Given the description of an element on the screen output the (x, y) to click on. 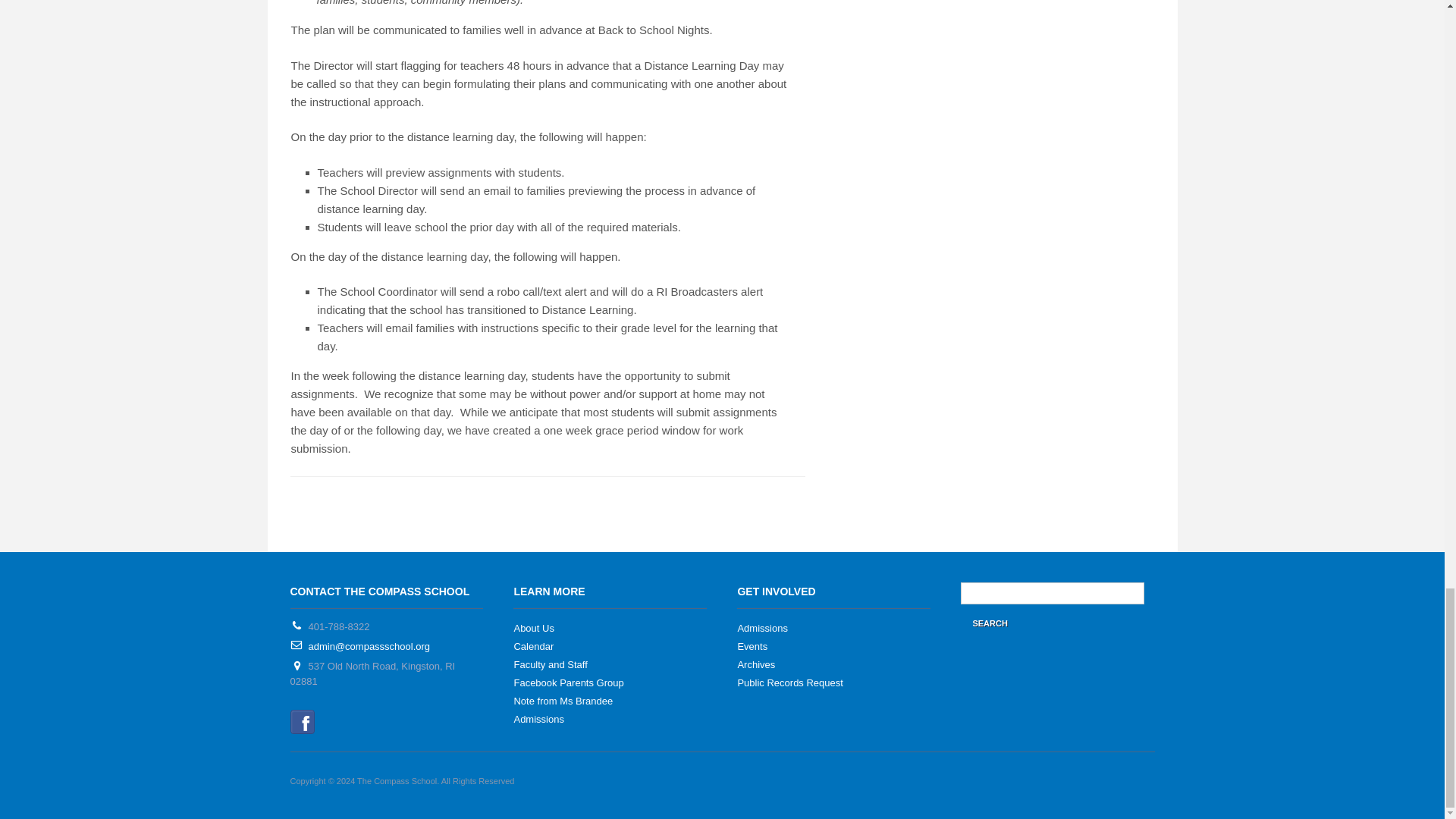
Search (988, 622)
find us on Facebook (301, 721)
